Given the description of an element on the screen output the (x, y) to click on. 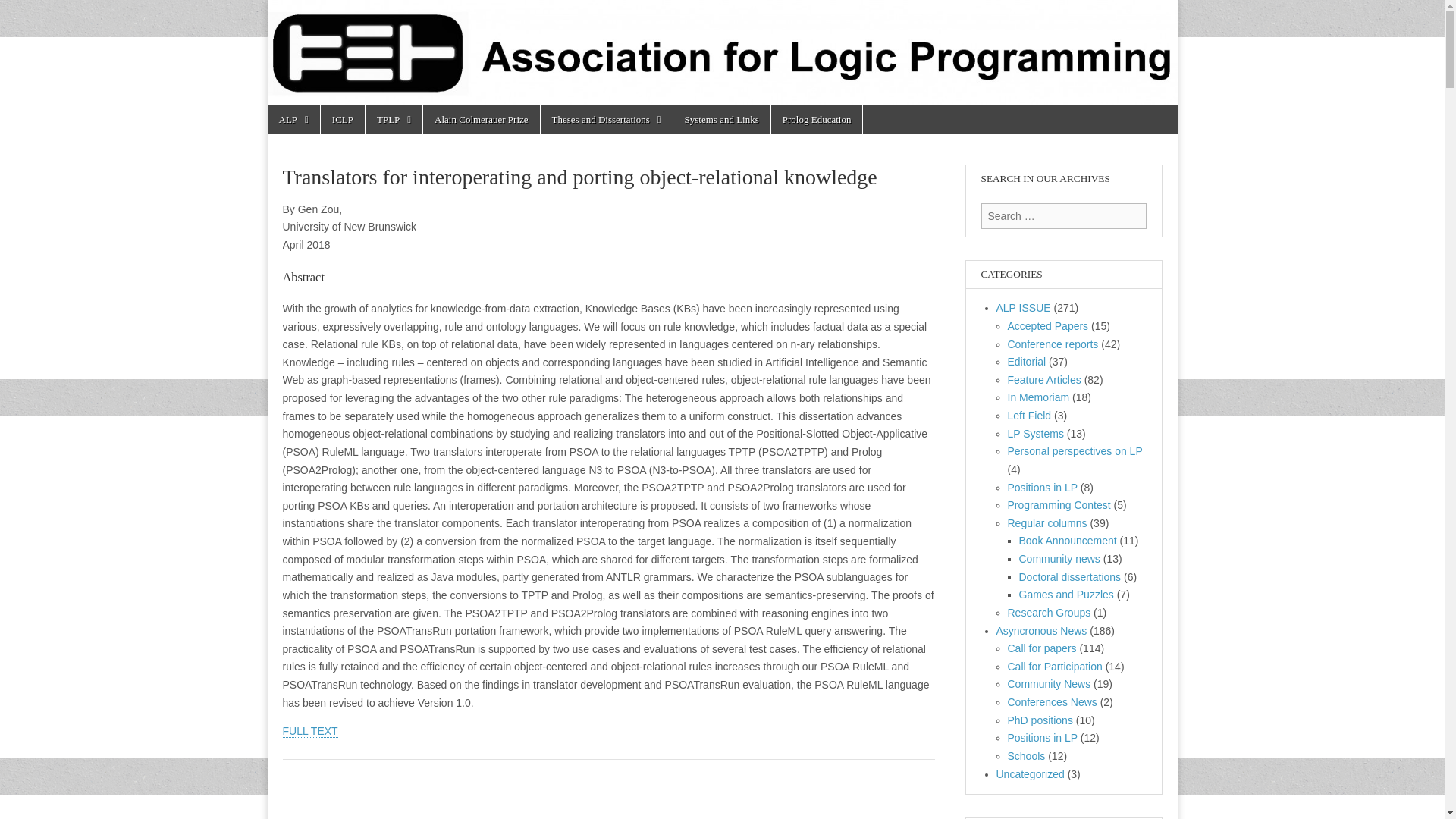
Association for Logic Programming (381, 76)
ALP ISSUE (1023, 307)
TPLP (393, 119)
In Memoriam (1037, 397)
Accepted Papers (1047, 326)
Theses and Dissertations (606, 119)
Feature Articles (1043, 379)
Left Field (1029, 415)
Search (23, 12)
ALP (292, 119)
ICLP (342, 119)
Prolog Education (817, 119)
FULL TEXT (309, 730)
